Given the description of an element on the screen output the (x, y) to click on. 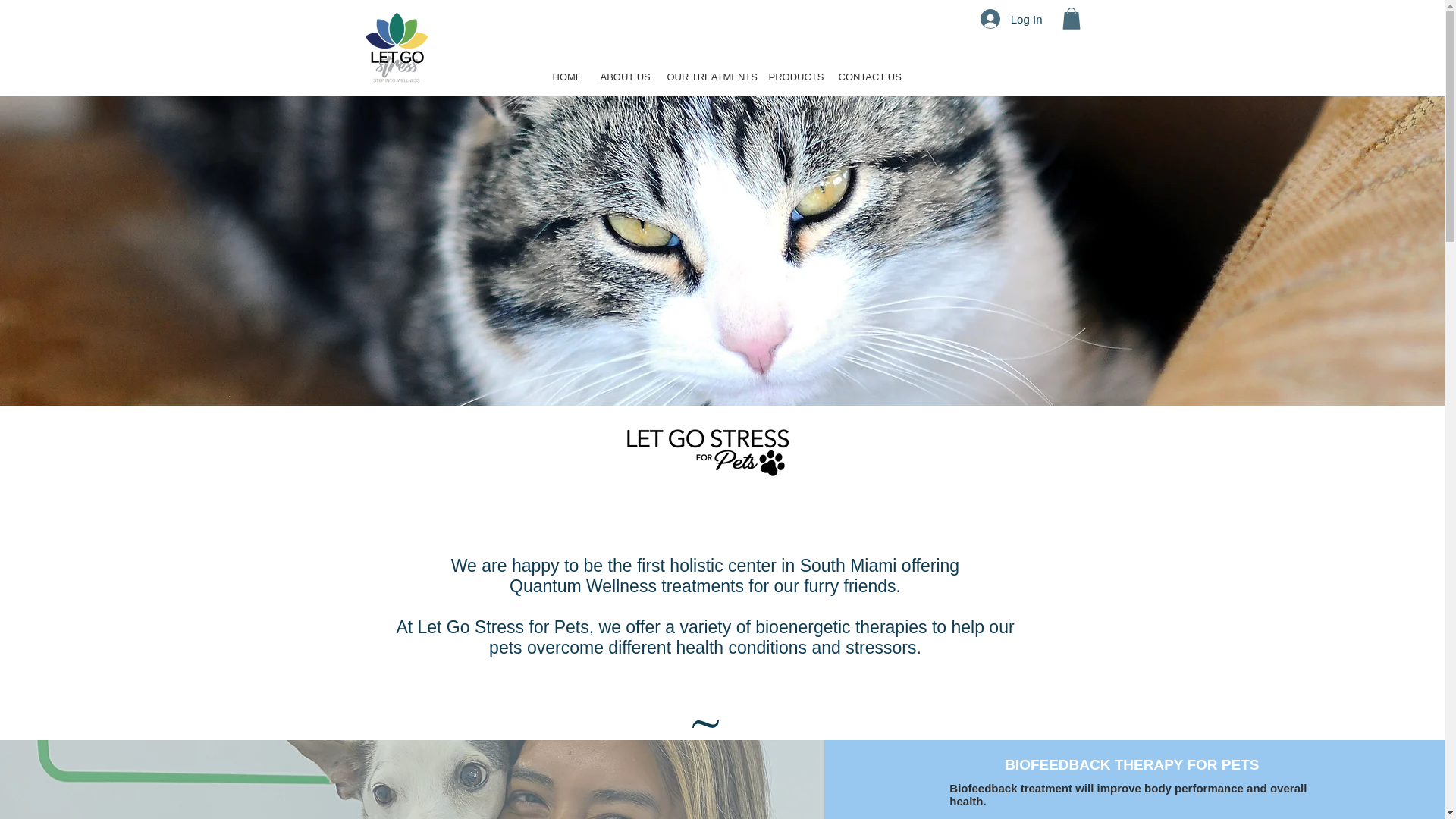
CONTACT US (864, 76)
PRODUCTS (792, 76)
HOME (565, 76)
OUR TREATMENTS (706, 76)
ABOUT US (621, 76)
Log In (1010, 18)
